Given the description of an element on the screen output the (x, y) to click on. 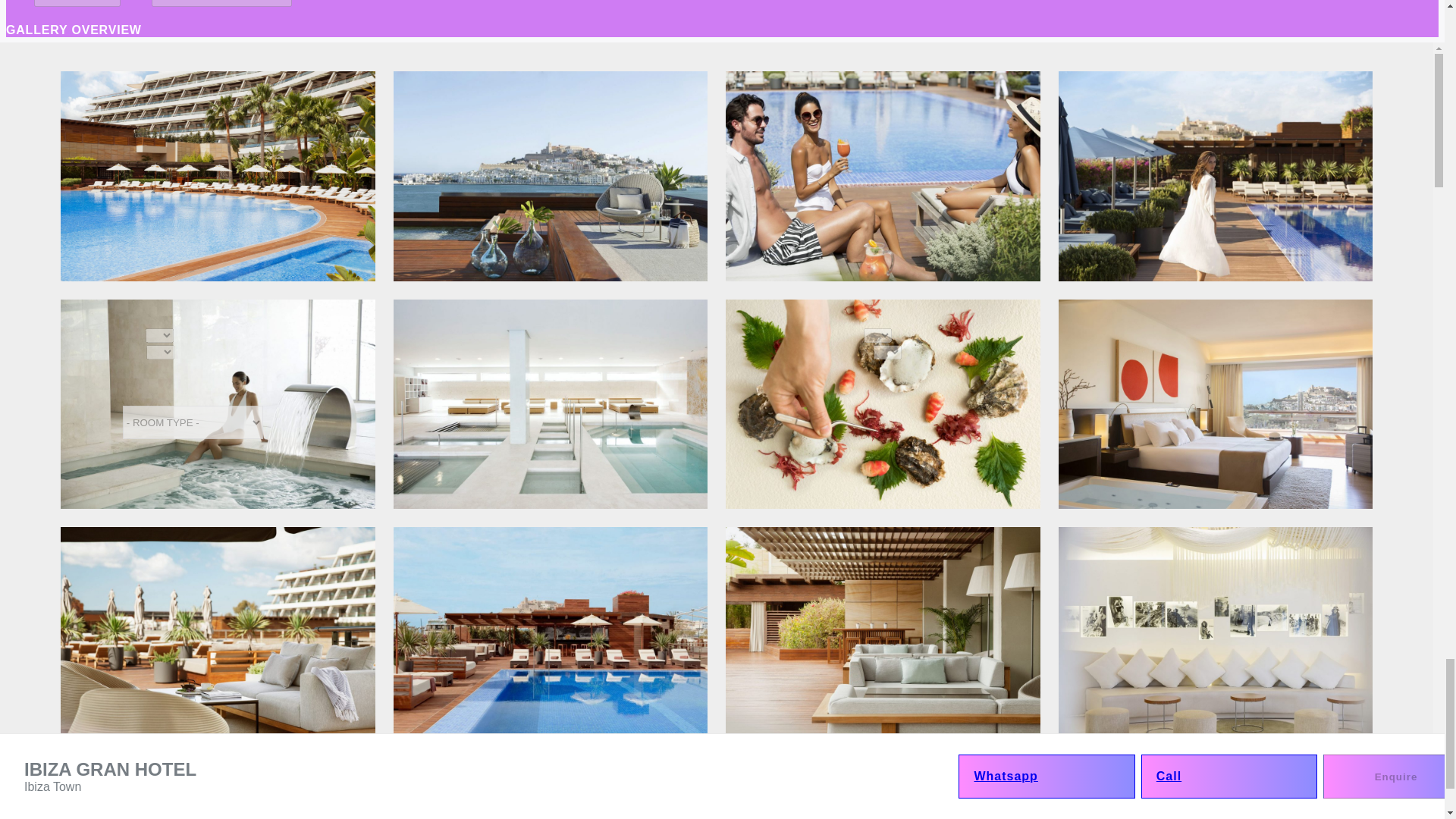
SEND (91, 540)
Subscribe to our newsletter (25, 508)
